Given the description of an element on the screen output the (x, y) to click on. 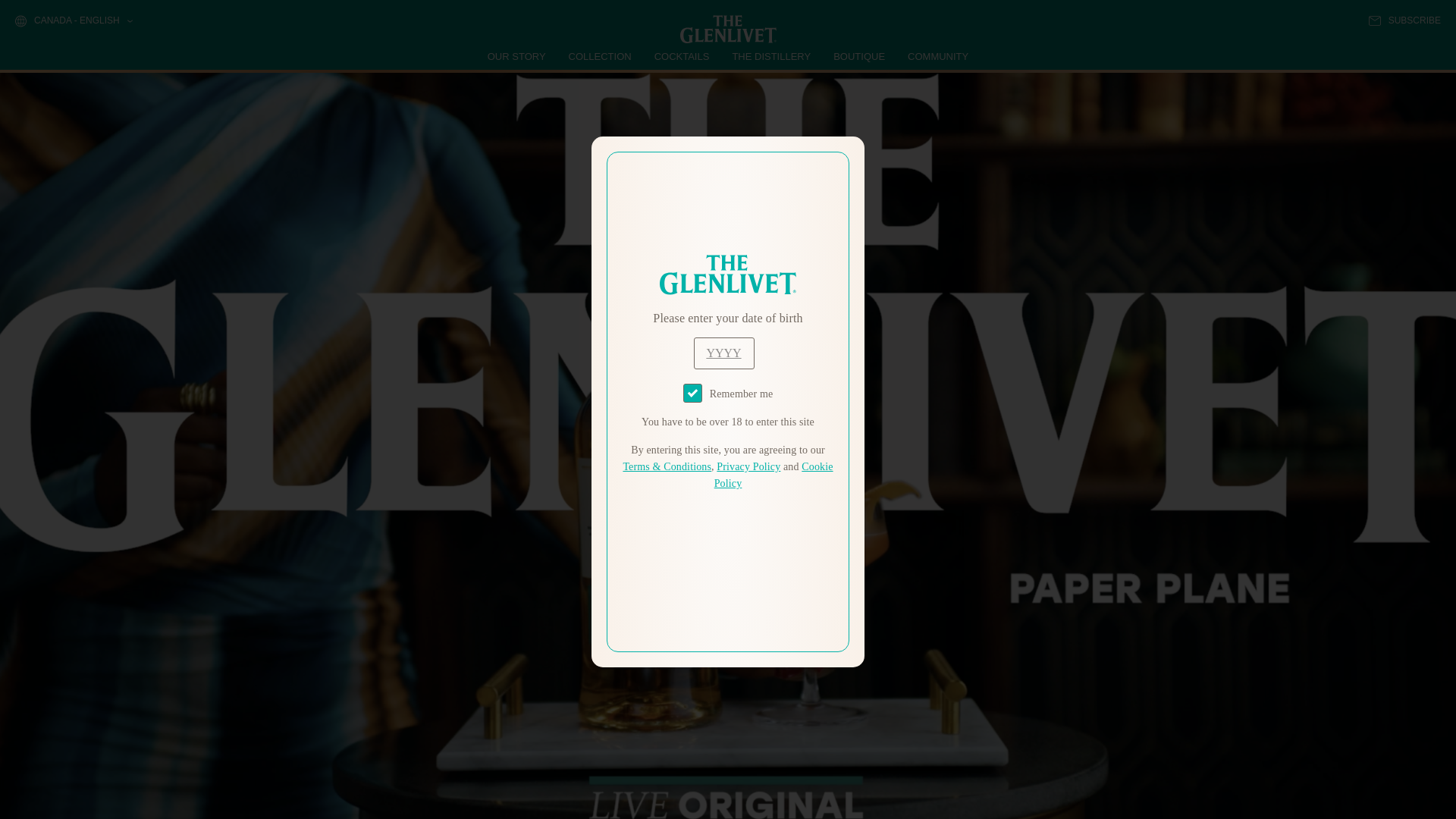
CANADA - ENGLISH (73, 21)
COCKTAILS (681, 56)
Cookie Policy (773, 474)
SUBSCRIBE (1404, 20)
Privacy Policy (748, 466)
COLLECTION (600, 56)
OUR STORY (516, 56)
BOUTIQUE (858, 56)
COMMUNITY (937, 56)
year (723, 353)
